Given the description of an element on the screen output the (x, y) to click on. 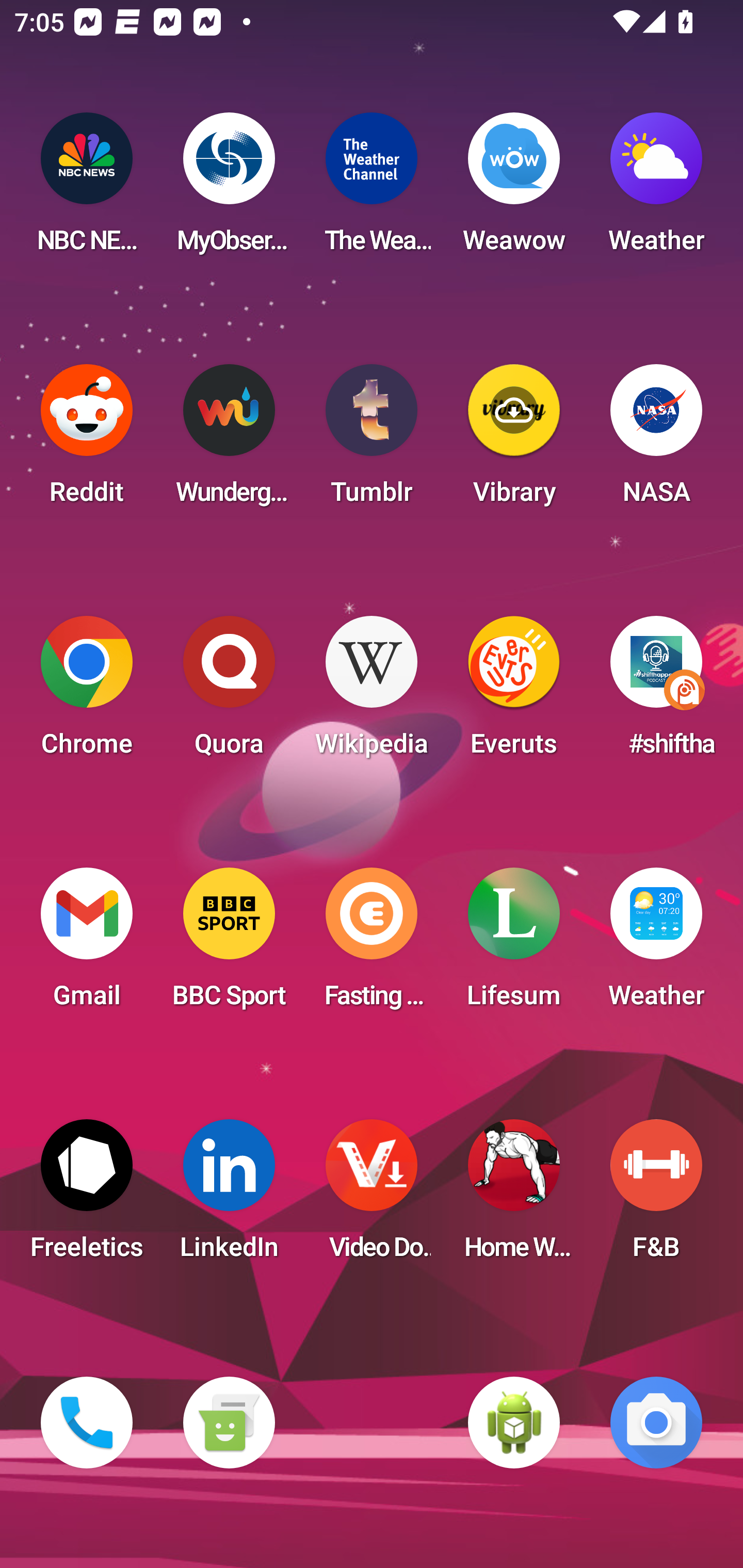
NBC NEWS (86, 188)
MyObservatory (228, 188)
The Weather Channel (371, 188)
Weawow (513, 188)
Weather (656, 188)
Reddit (86, 440)
Wunderground (228, 440)
Tumblr (371, 440)
Vibrary (513, 440)
NASA (656, 440)
Chrome (86, 692)
Quora (228, 692)
Wikipedia (371, 692)
Everuts (513, 692)
#shifthappens in the Digital Workplace Podcast (656, 692)
Gmail (86, 943)
BBC Sport (228, 943)
Fasting Coach (371, 943)
Lifesum (513, 943)
Weather (656, 943)
Freeletics (86, 1195)
LinkedIn (228, 1195)
Video Downloader & Ace Player (371, 1195)
Home Workout (513, 1195)
F&B (656, 1195)
Phone (86, 1422)
Messaging (228, 1422)
WebView Browser Tester (513, 1422)
Camera (656, 1422)
